Given the description of an element on the screen output the (x, y) to click on. 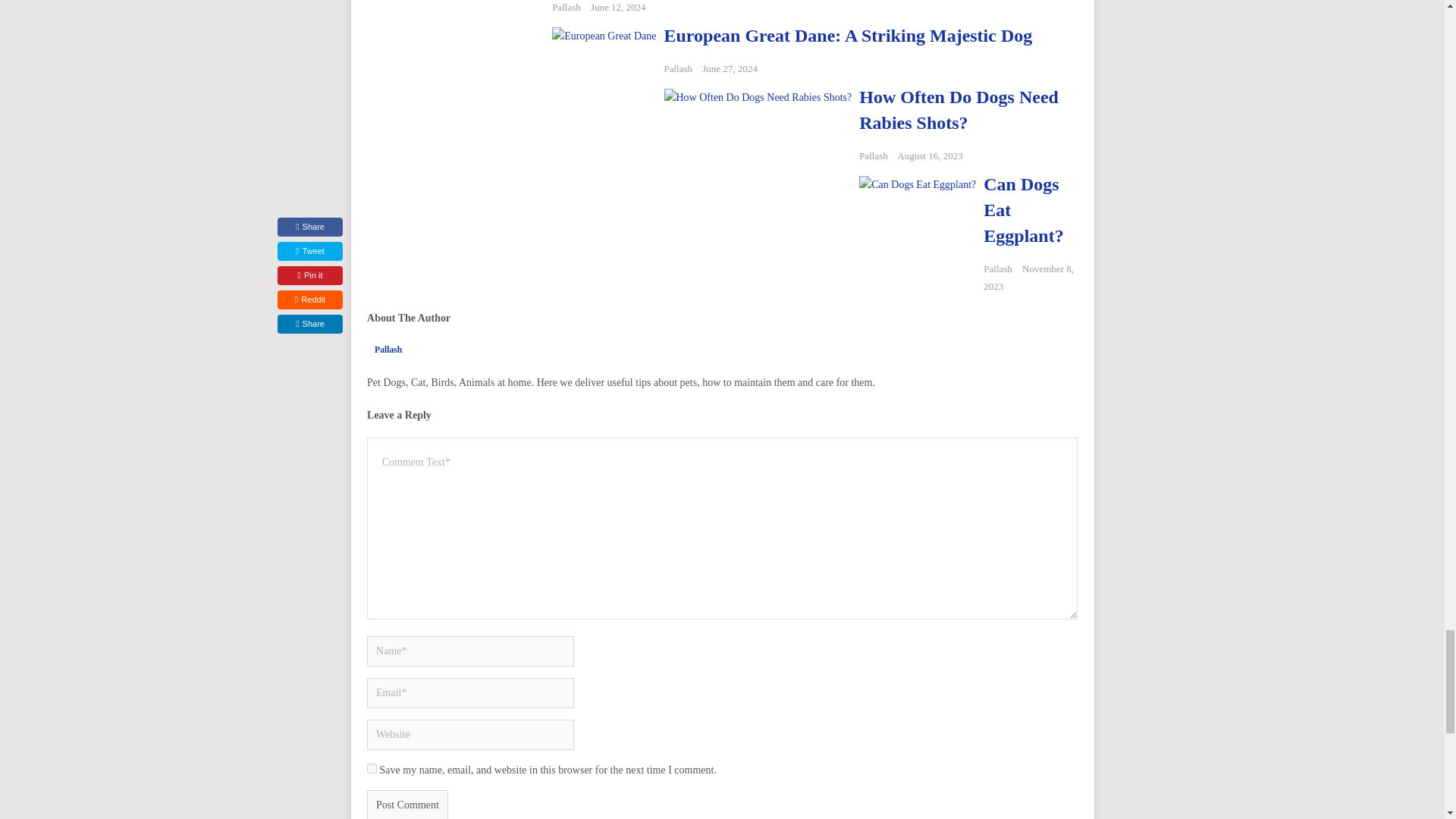
yes (371, 768)
How Often Do Dogs Need Rabies Shots? (958, 109)
European Great Dane: A Striking Majestic Dog (847, 35)
Posts by Pallash (565, 7)
Pallash (678, 68)
Pallash (387, 349)
Pallash (873, 155)
Why Is My Dog Barking At His Food? 4 (455, 66)
European Great Dane: A Striking Majestic Dog (847, 35)
Pallash (997, 268)
